Given the description of an element on the screen output the (x, y) to click on. 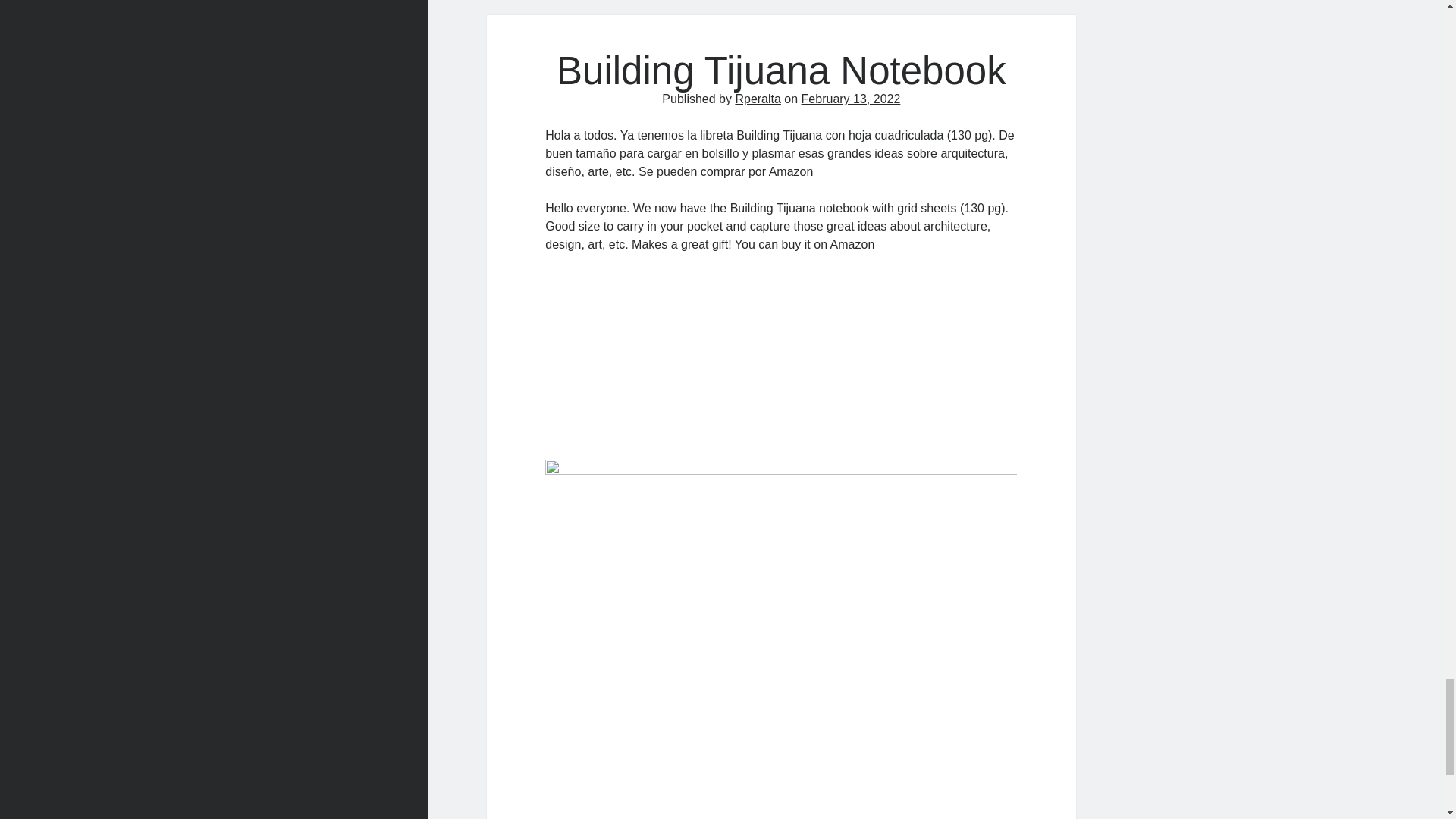
Rperalta (757, 98)
February 13, 2022 (851, 98)
Building Tijuana Notebook (781, 70)
